Given the description of an element on the screen output the (x, y) to click on. 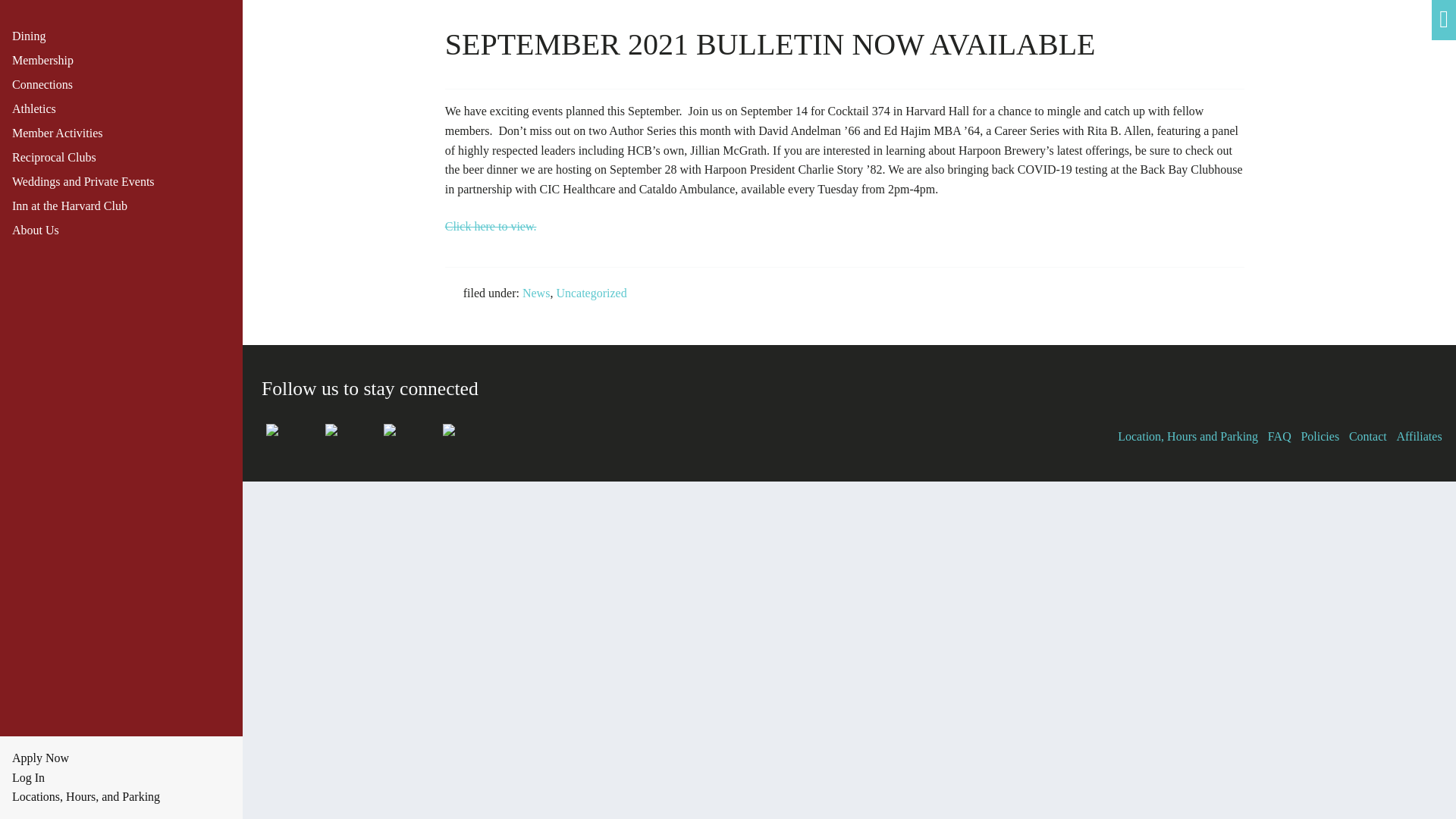
Connections (127, 84)
Dining (127, 36)
Membership (127, 60)
Click here to view. (491, 226)
Reciprocal Clubs (127, 157)
About Us (127, 230)
Athletics (127, 109)
Inn at the Harvard Club (127, 206)
News (536, 292)
Uncategorized (591, 292)
